Given the description of an element on the screen output the (x, y) to click on. 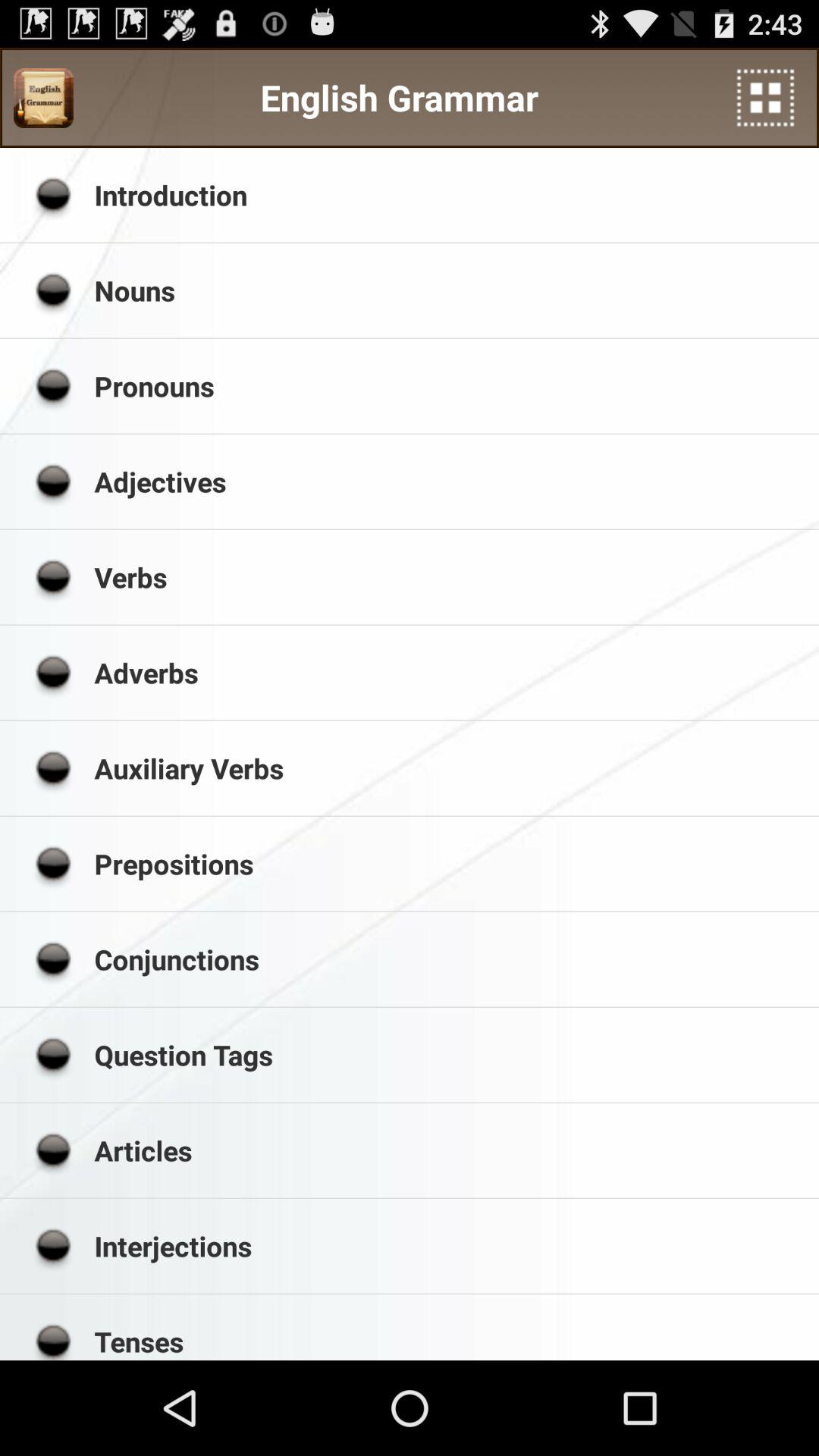
turn off app next to english grammar (43, 97)
